Given the description of an element on the screen output the (x, y) to click on. 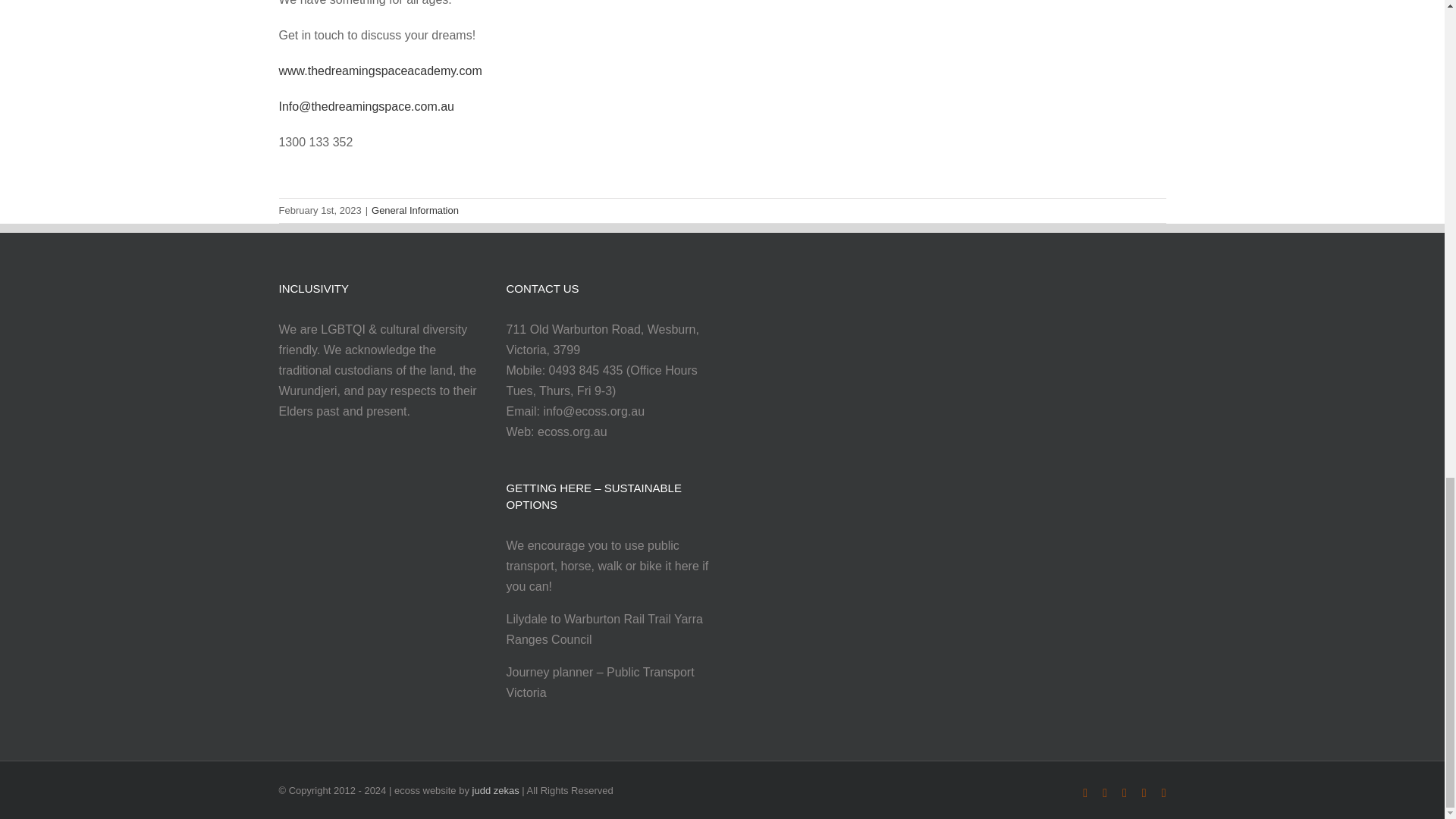
Facebook (1085, 793)
Instagram (1144, 793)
YouTube (1124, 793)
Email (1163, 793)
Twitter (1104, 793)
